Given the description of an element on the screen output the (x, y) to click on. 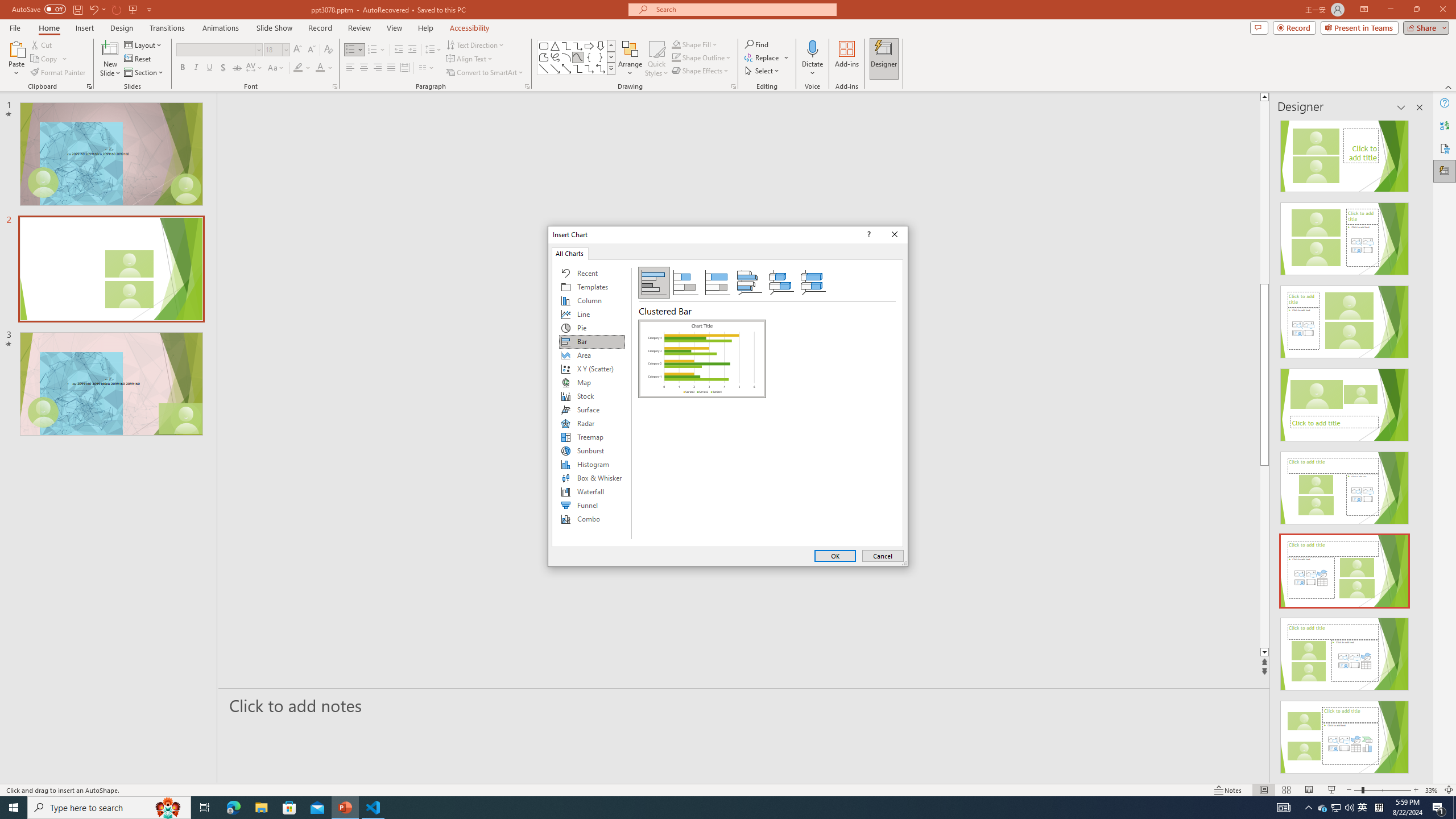
Funnel (591, 505)
Section (144, 72)
Microsoft Edge (233, 807)
Format Painter (58, 72)
Clustered Bar (701, 358)
